Given the description of an element on the screen output the (x, y) to click on. 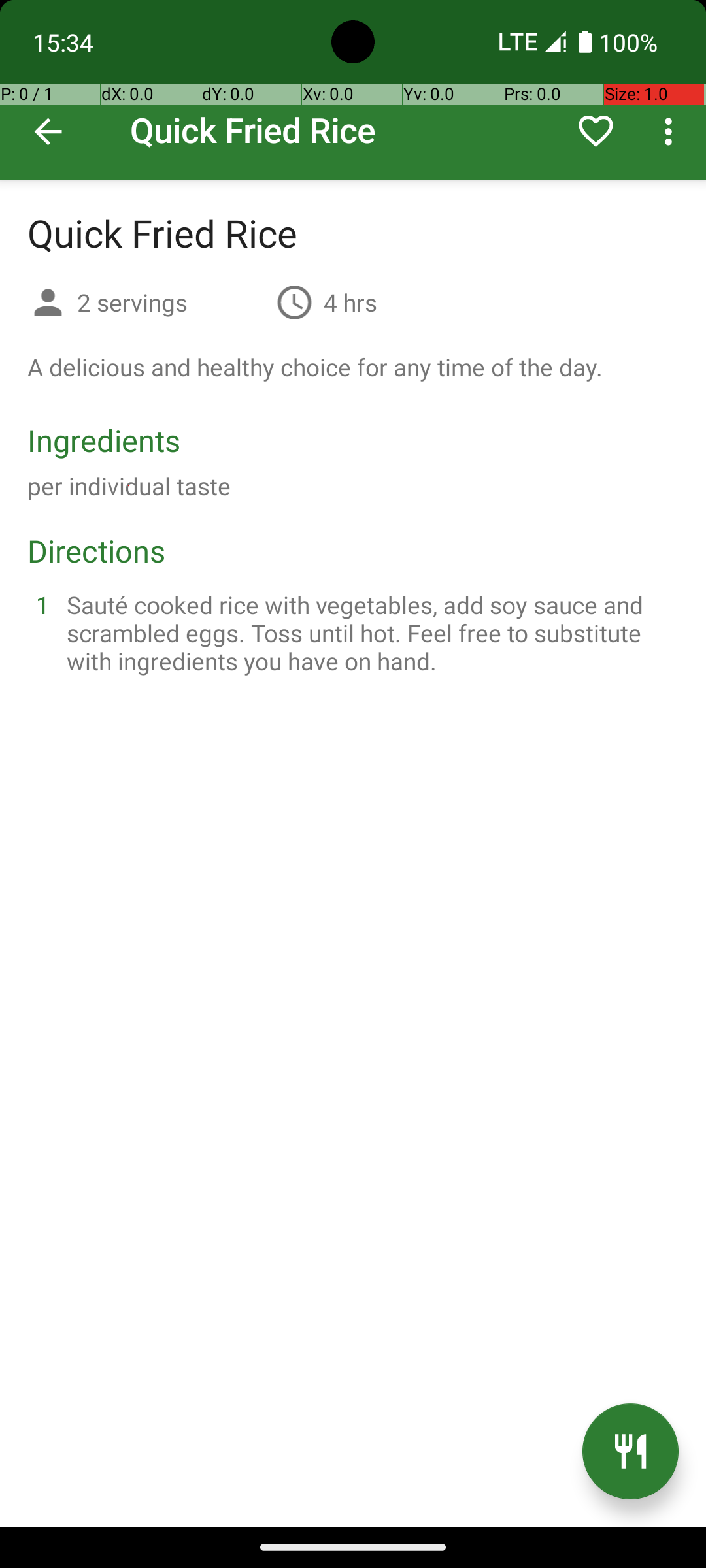
Sauté cooked rice with vegetables, add soy sauce and scrambled eggs. Toss until hot. Feel free to substitute with ingredients you have on hand. Element type: android.widget.TextView (368, 632)
